Given the description of an element on the screen output the (x, y) to click on. 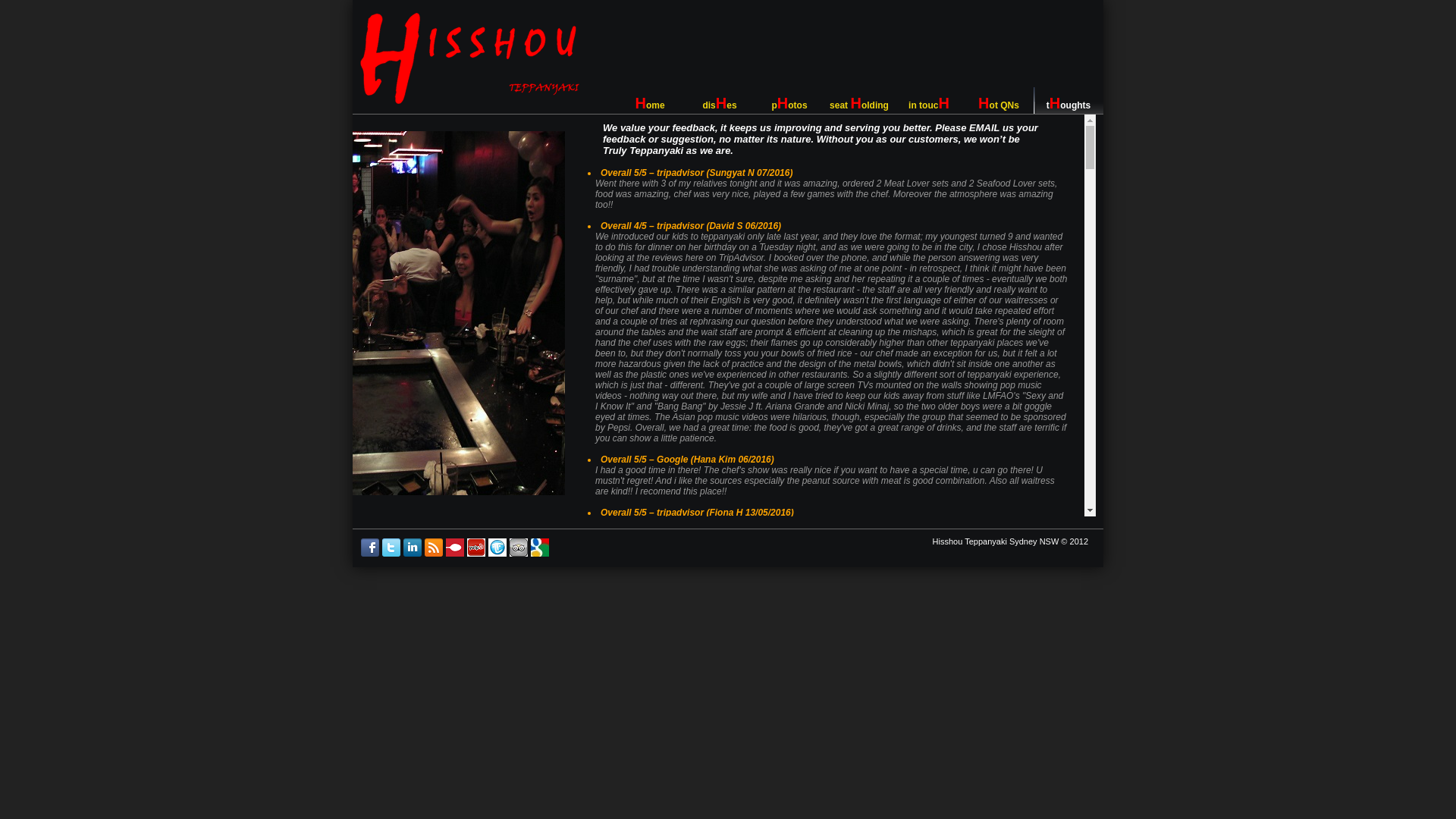
yelp Element type: hover (476, 553)
Home Element type: text (649, 99)
fws Element type: hover (518, 553)
rss Element type: hover (433, 553)
fws Element type: hover (497, 553)
seat Holding Element type: text (858, 99)
zomato Element type: hover (454, 553)
facebook Element type: hover (369, 553)
twitter Element type: hover (391, 553)
google Element type: hover (539, 553)
pHotos Element type: text (788, 99)
in toucH Element type: text (928, 99)
tHoughts Element type: text (1068, 99)
linkedin Element type: hover (412, 553)
Hot QNs Element type: text (998, 99)
HISSHOU Teppanyaki Element type: hover (469, 57)
EMAIL Element type: text (984, 127)
disHes Element type: text (719, 99)
